Given the description of an element on the screen output the (x, y) to click on. 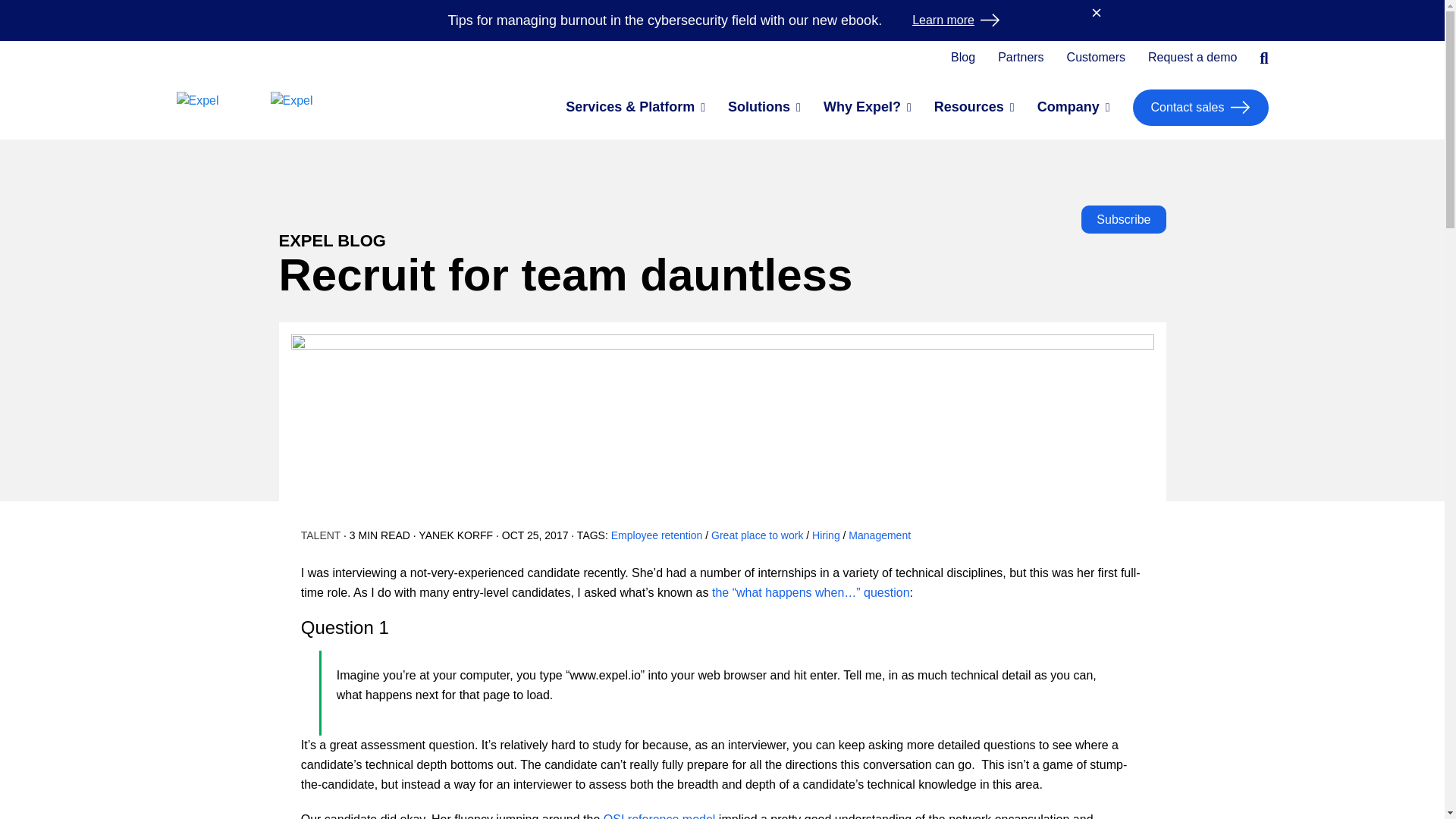
Learn more (956, 19)
Why Expel? (862, 107)
Partners (1020, 57)
Solutions (759, 107)
Blog (962, 57)
Resources (969, 107)
Request a demo (1192, 57)
Customers (1096, 57)
